Given the description of an element on the screen output the (x, y) to click on. 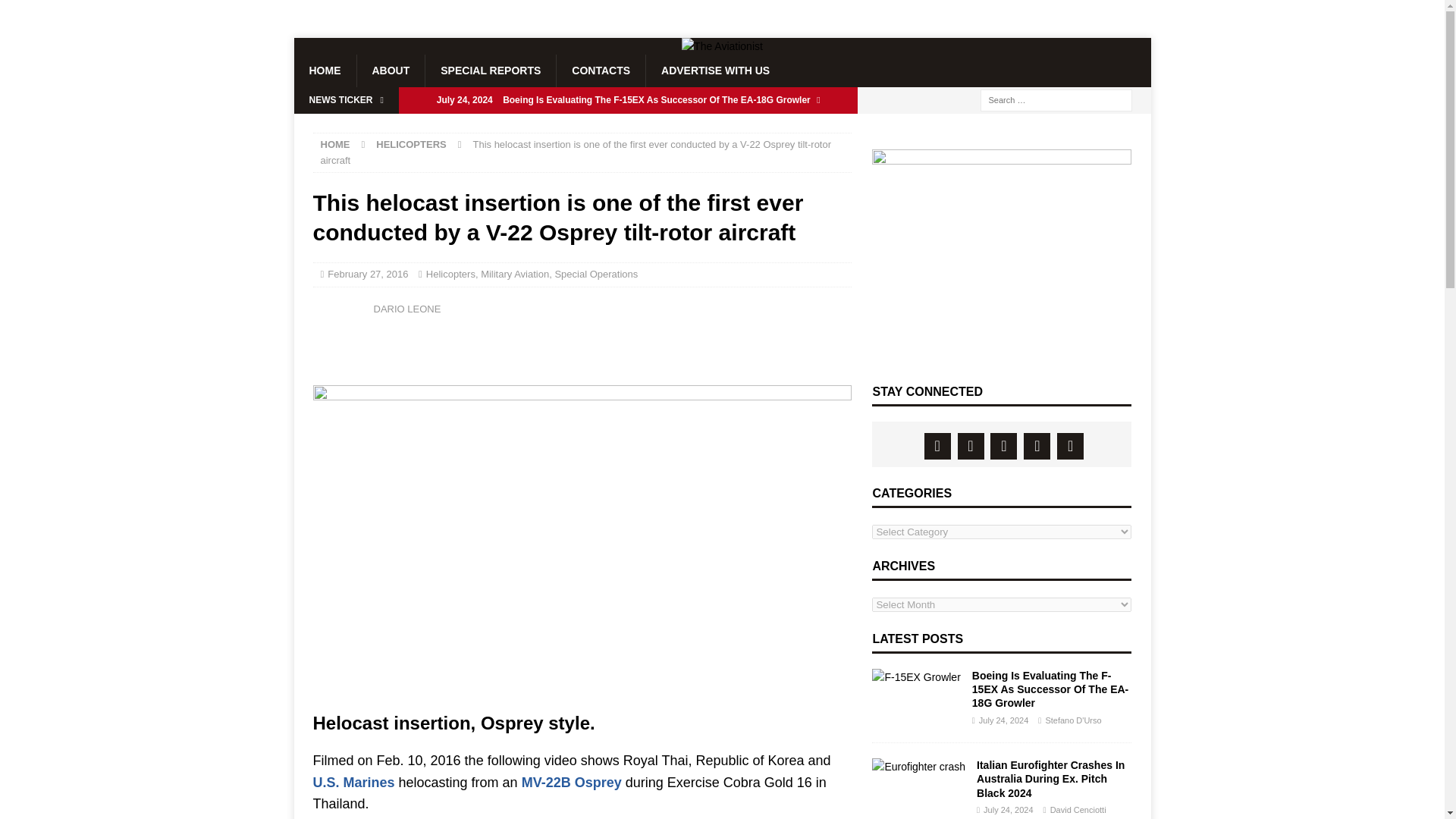
DARIO LEONE (406, 308)
Search (56, 11)
February 27, 2016 (367, 274)
Helicopters (451, 274)
SPECIAL REPORTS (490, 70)
ABOUT (390, 70)
ADVERTISE WITH US (714, 70)
The Aviationist (721, 46)
Dario Leone (339, 316)
HOME (334, 143)
HELICOPTERS (410, 143)
Military Aviation (514, 274)
HOME (325, 70)
